Given the description of an element on the screen output the (x, y) to click on. 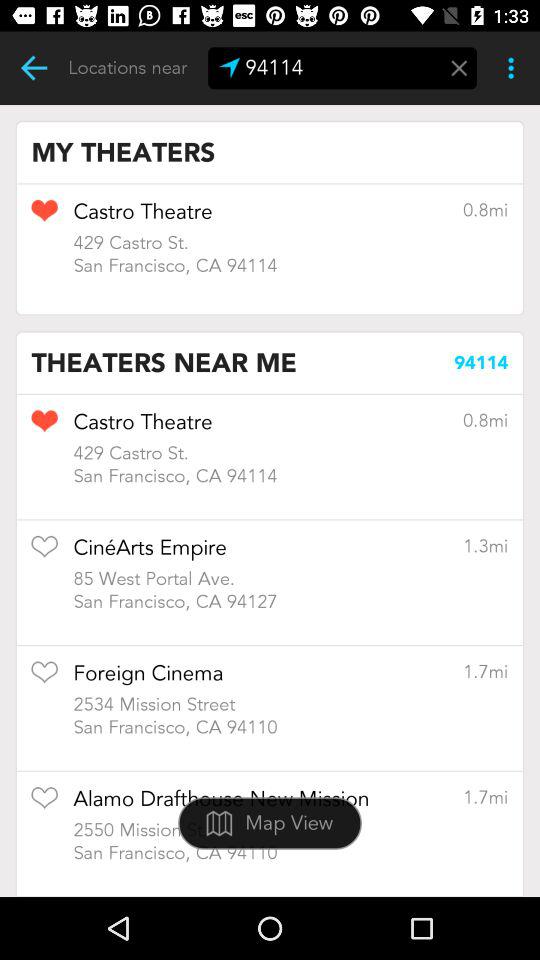
like button (44, 427)
